Given the description of an element on the screen output the (x, y) to click on. 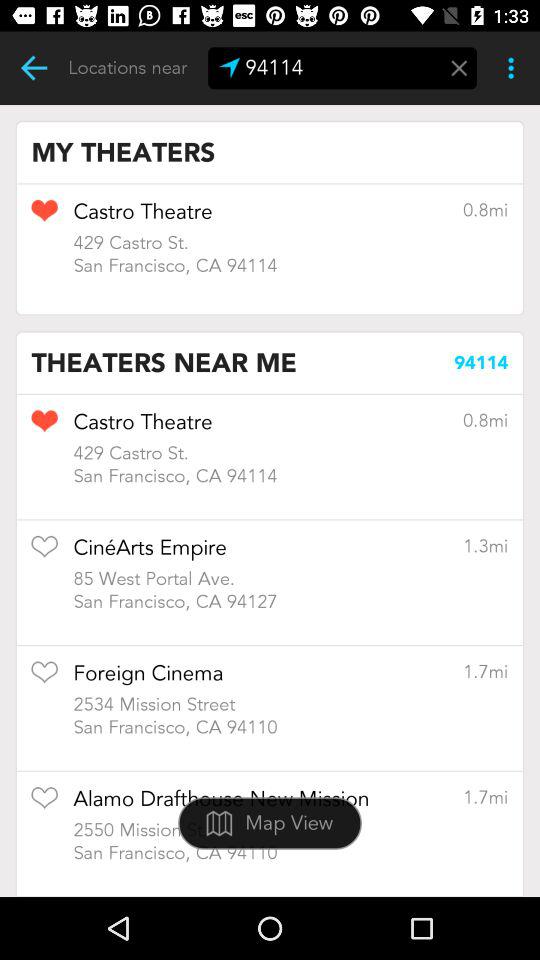
like button (44, 427)
